Given the description of an element on the screen output the (x, y) to click on. 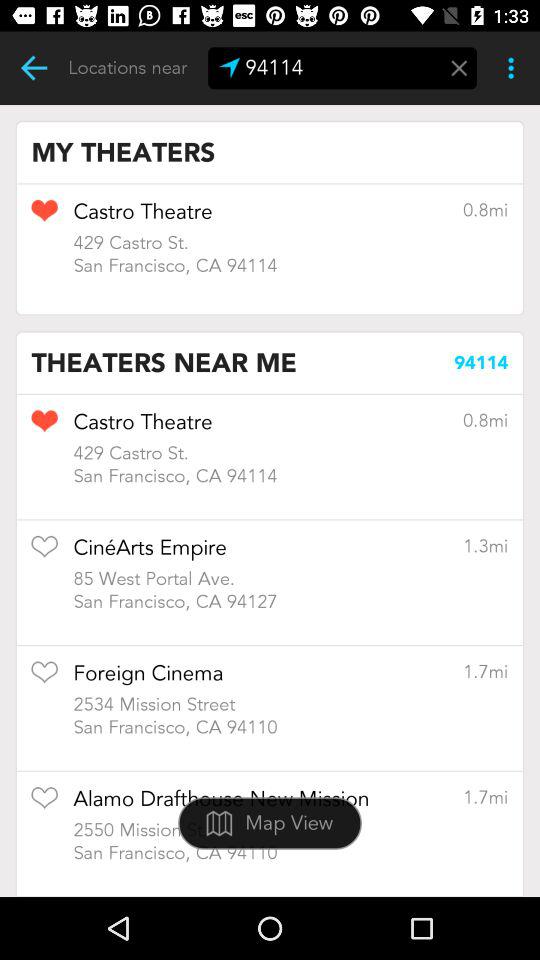
like button (44, 427)
